Given the description of an element on the screen output the (x, y) to click on. 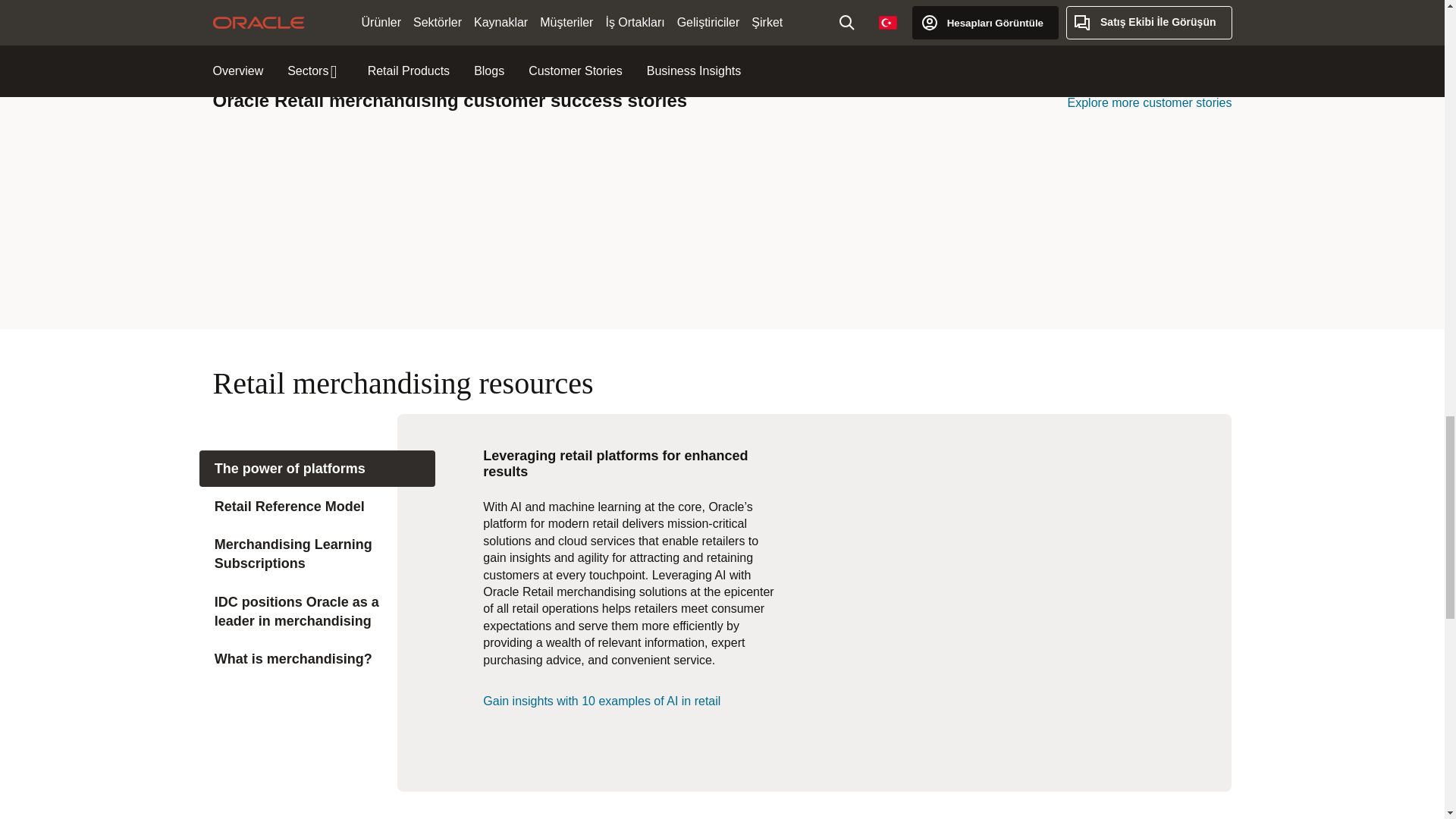
Read the Flink story (849, 178)
Read the Mr Price story (339, 254)
Read the Waldo's Dollar Mart story (594, 253)
Read the Cape Union Mart story (594, 177)
Read the Komax story (1103, 177)
